Given the description of an element on the screen output the (x, y) to click on. 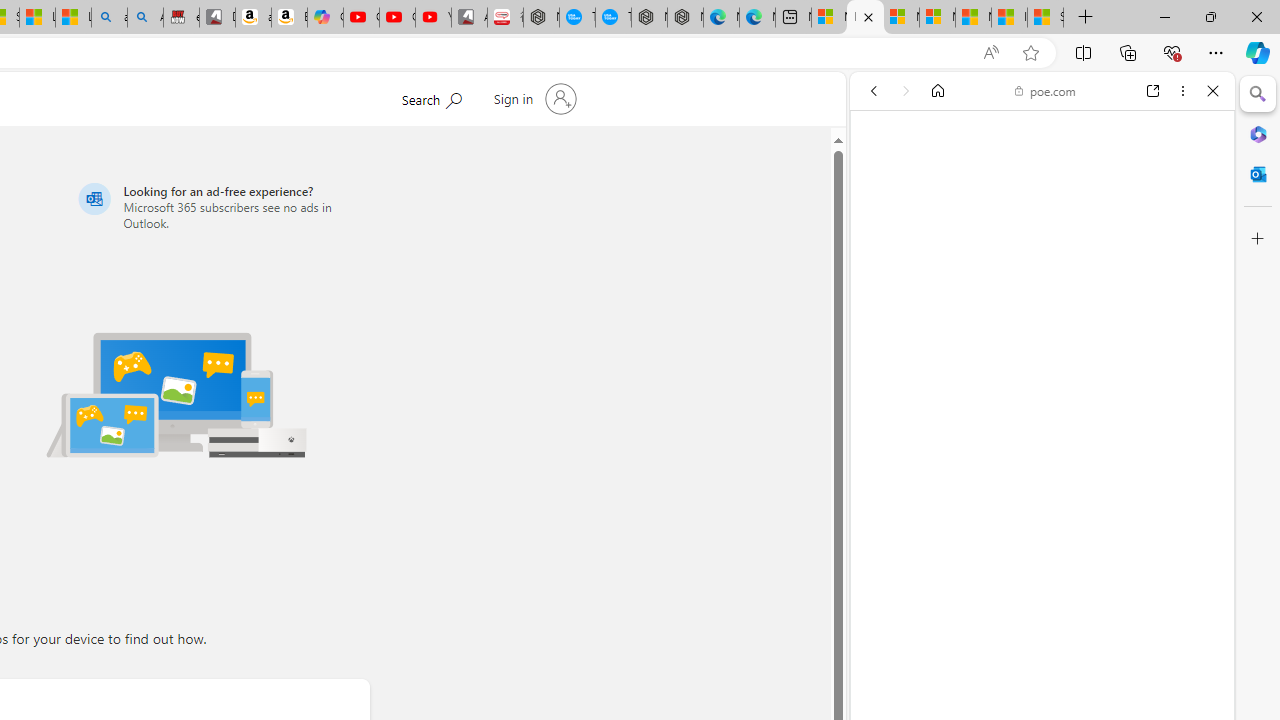
Nordace - Nordace has arrived Hong Kong (685, 17)
Search Filter, IMAGES (939, 228)
Search Microsoft.com (431, 97)
Search Filter, VIDEOS (1006, 228)
Poe (1034, 288)
Search Filter, Search Tools (1093, 228)
Search Filter, WEB (882, 228)
